Given the description of an element on the screen output the (x, y) to click on. 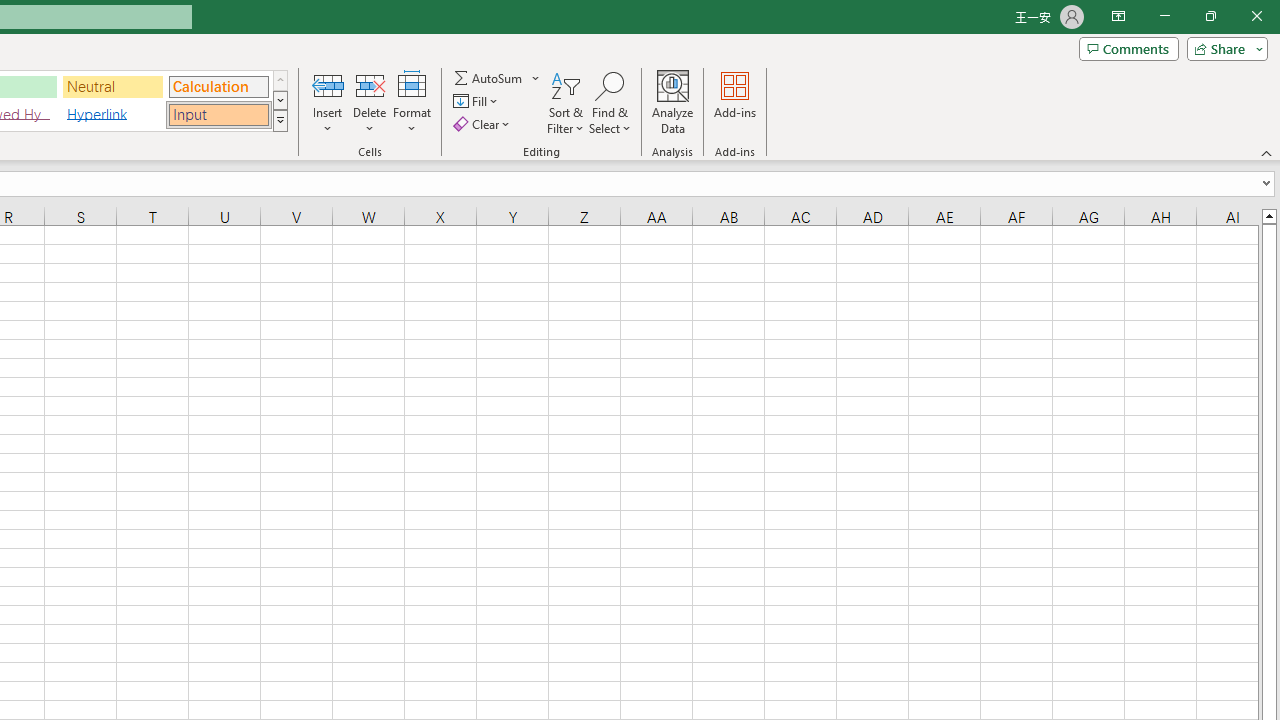
Neutral (113, 86)
Sum (489, 78)
Fill (477, 101)
Delete (369, 102)
AutoSum (497, 78)
Cell Styles (280, 120)
Hyperlink (113, 114)
